Given the description of an element on the screen output the (x, y) to click on. 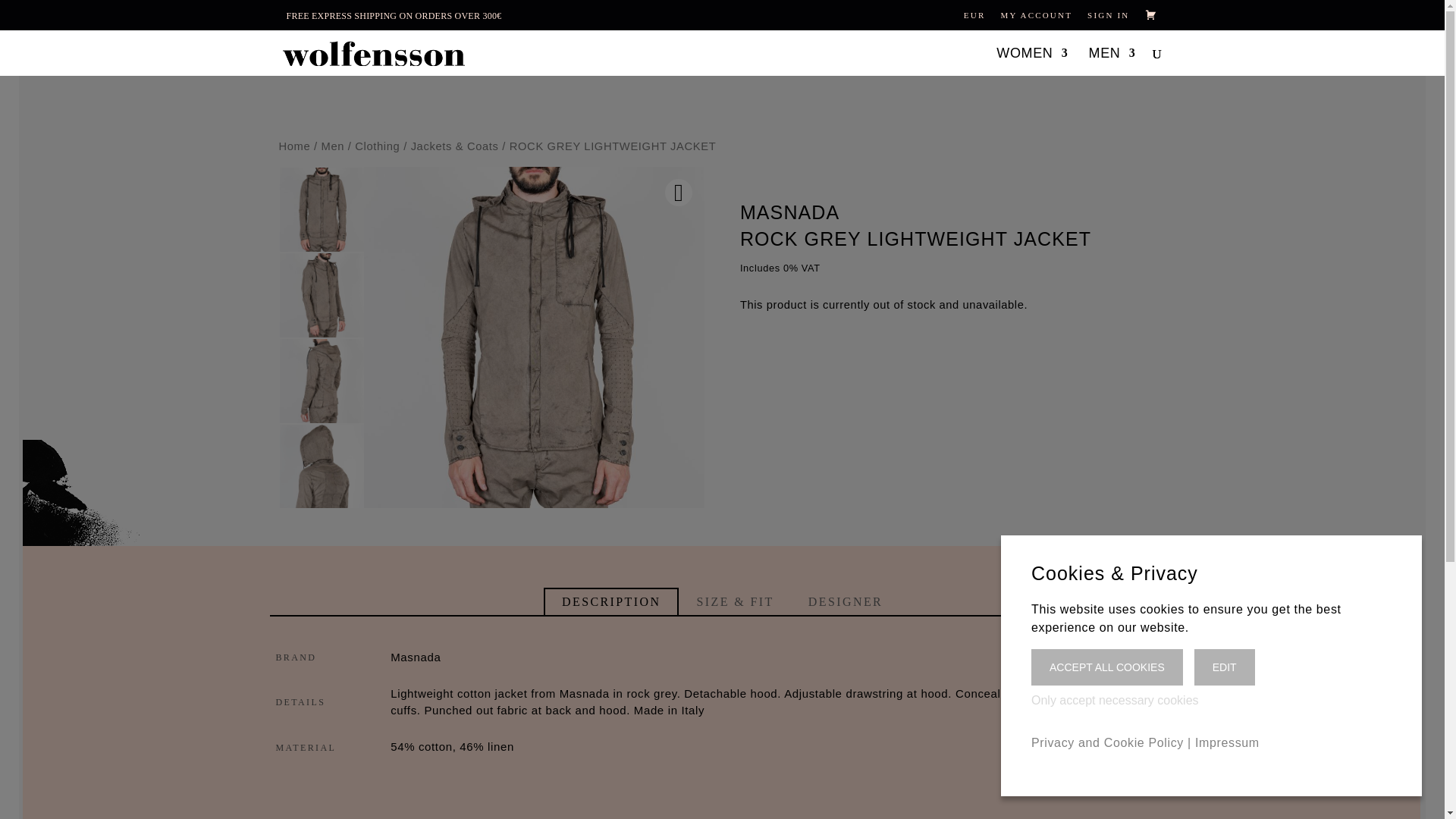
EUR (974, 15)
MY ACCOUNT (1036, 15)
MEN (1112, 54)
SIGN IN (1108, 15)
WOMEN (1031, 54)
